Given the description of an element on the screen output the (x, y) to click on. 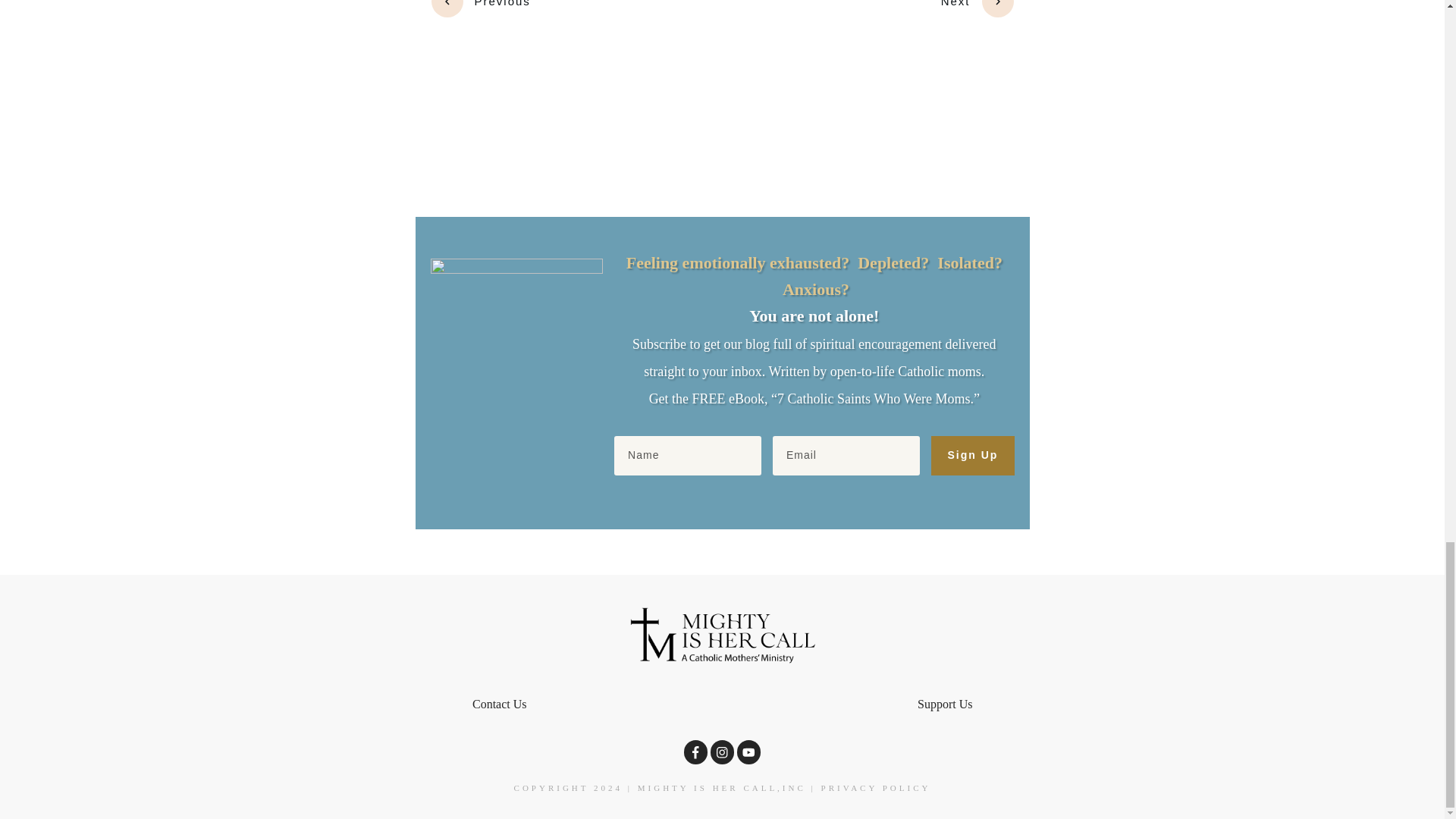
Previous (479, 8)
Support Us (944, 703)
Next (976, 8)
Contact Us (499, 703)
Sign Up (972, 455)
PRIVACY POLICY (876, 787)
